Given the description of an element on the screen output the (x, y) to click on. 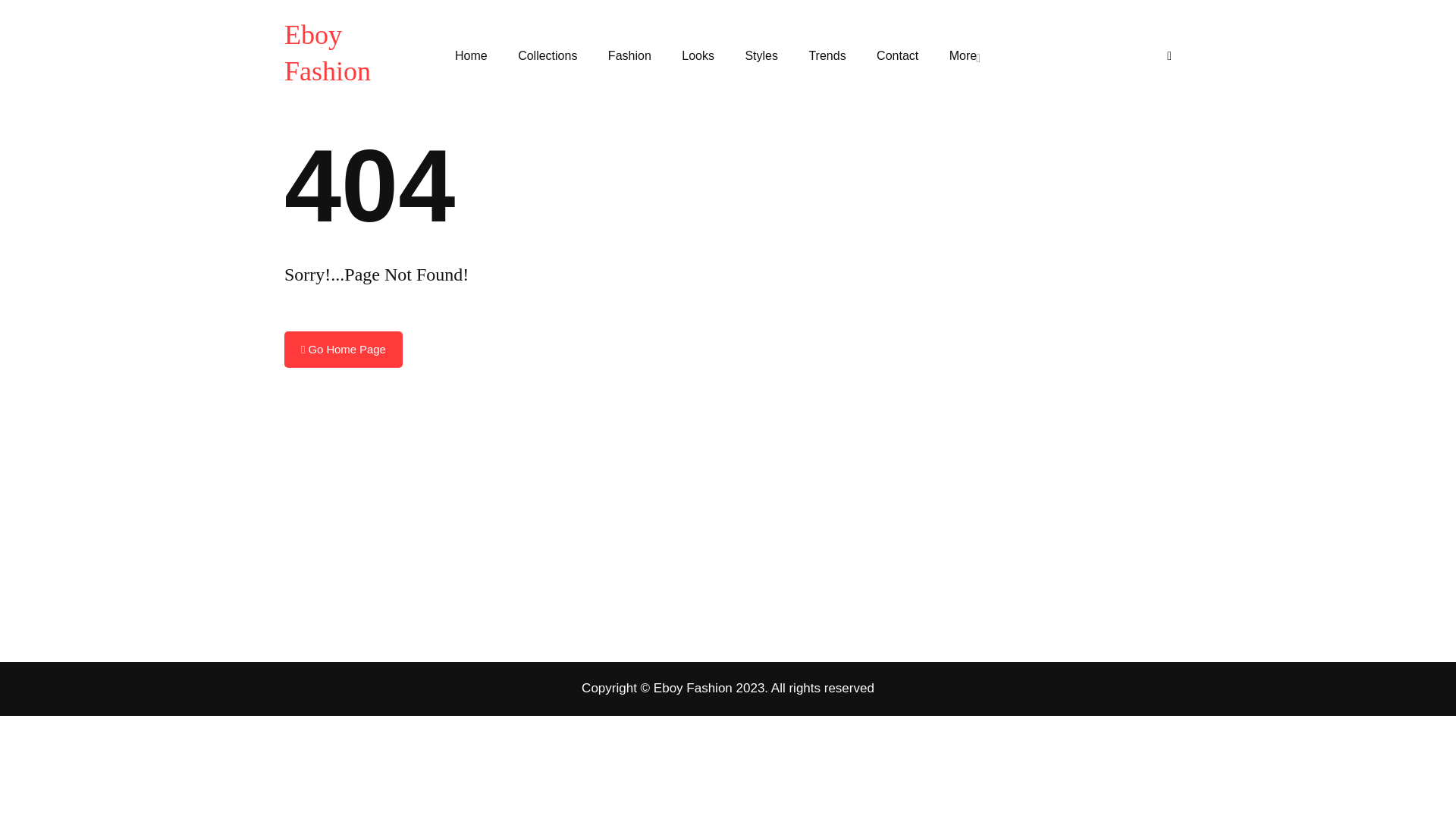
Eboy Fashion (348, 52)
Styles (761, 55)
Looks (698, 55)
Contact (897, 55)
Collections (547, 55)
More (965, 55)
Trends (826, 55)
Home (477, 55)
Fashion (629, 55)
Go Home Page (343, 349)
